Given the description of an element on the screen output the (x, y) to click on. 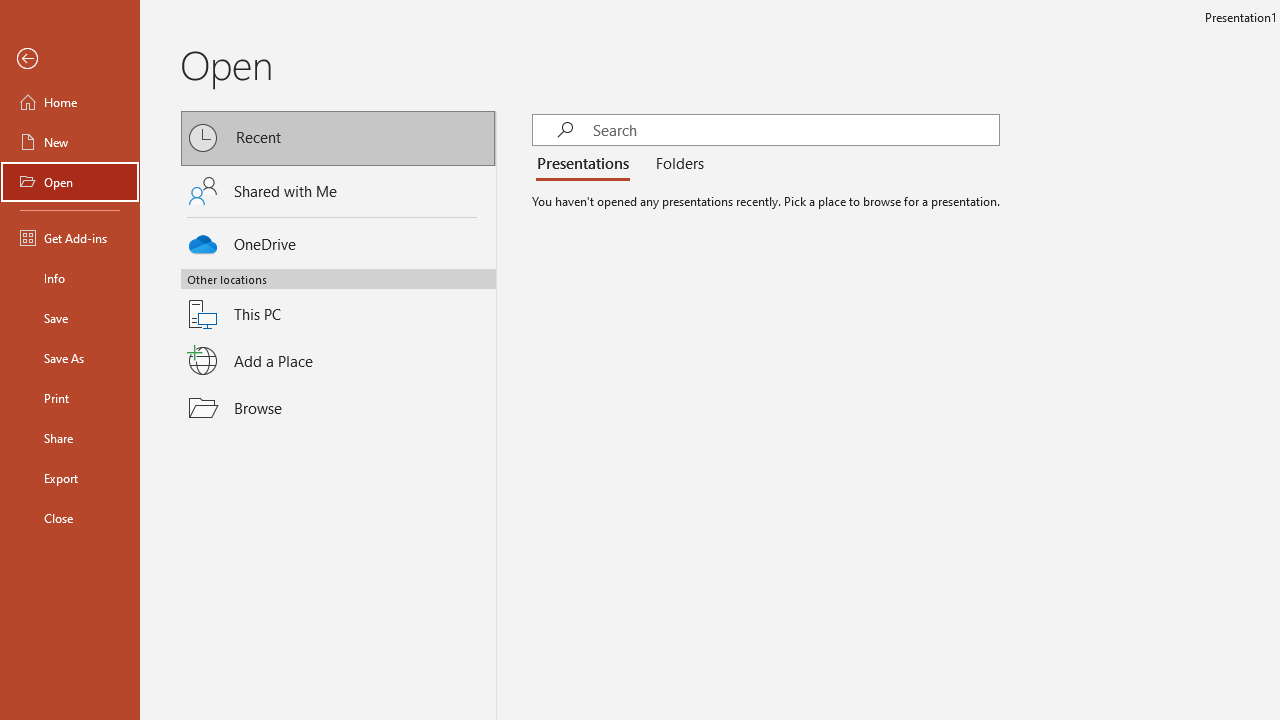
Browse (338, 407)
OneDrive (338, 240)
Folders (676, 164)
Info (69, 277)
Export (69, 477)
Print (69, 398)
This PC (338, 302)
New (69, 141)
Presentations (587, 164)
Save As (69, 357)
